Given the description of an element on the screen output the (x, y) to click on. 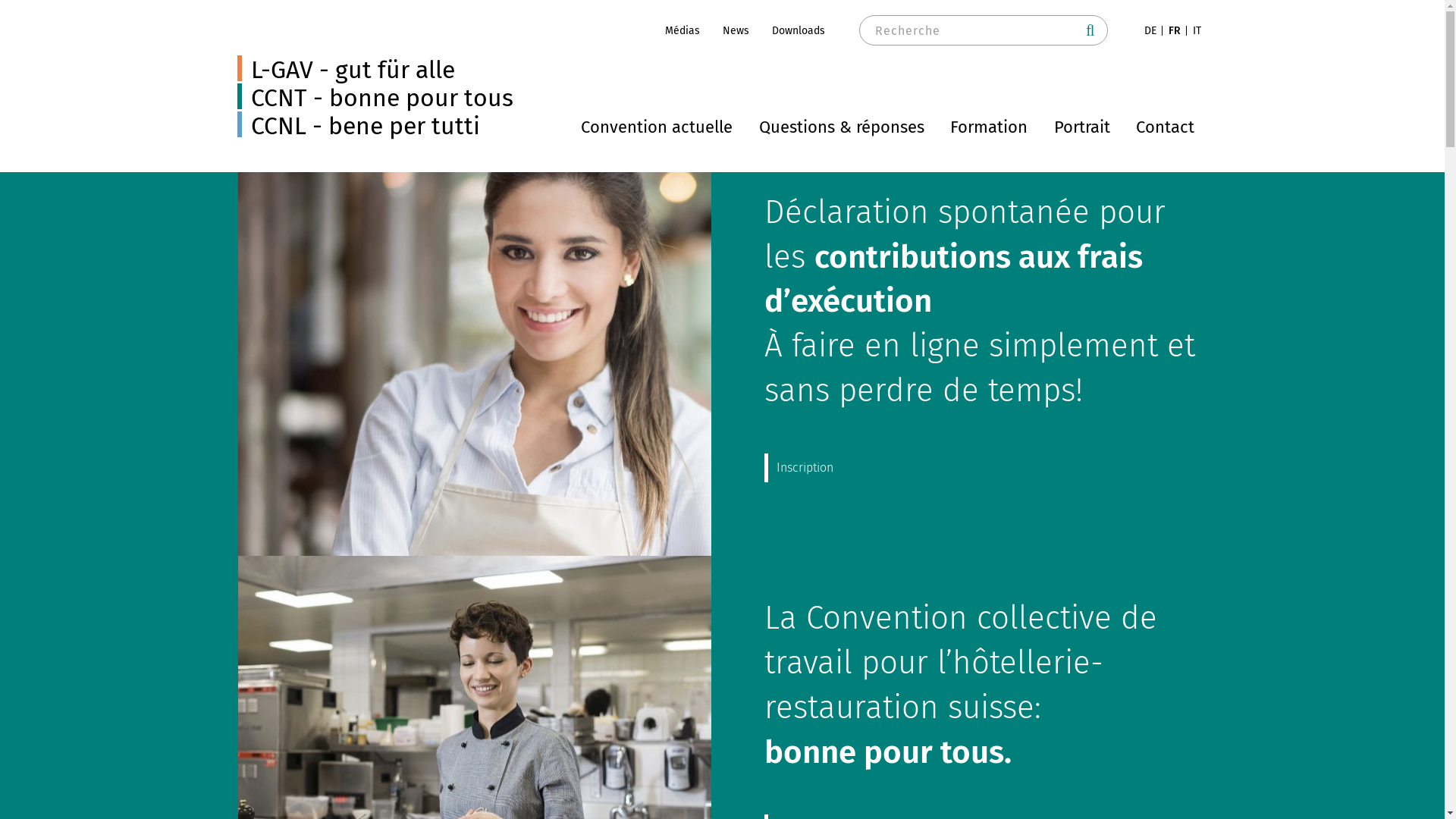
Inscription Element type: text (804, 467)
IT Element type: text (1196, 30)
CCNT - bonne pour tous Element type: text (374, 97)
News Element type: text (735, 30)
Contact Element type: text (1164, 126)
Convention actuelle Element type: text (656, 126)
CCNL - bene per tutti Element type: text (357, 125)
Downloads Element type: text (798, 30)
Formation Element type: text (988, 126)
Portrait Element type: text (1082, 126)
FR Element type: text (1174, 30)
DE Element type: text (1150, 30)
